Given the description of an element on the screen output the (x, y) to click on. 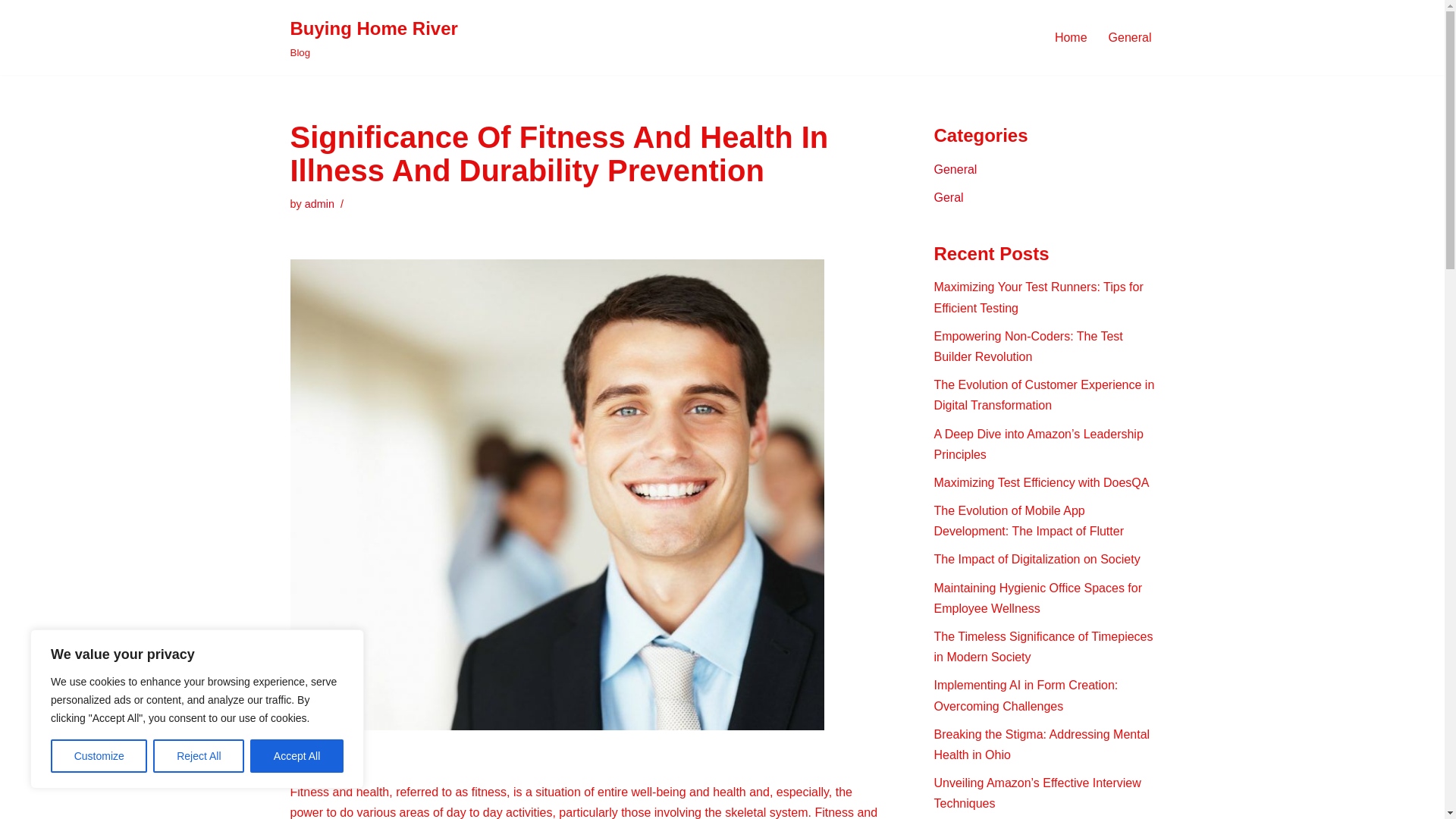
Maintaining Hygienic Office Spaces for Employee Wellness (1038, 598)
Maximizing Your Test Runners: Tips for Efficient Testing (1038, 296)
Empowering Non-Coders: The Test Builder Revolution (1028, 346)
General (1129, 37)
Maximizing Test Efficiency with DoesQA (1042, 481)
The Impact of Digitalization on Society (1037, 558)
Reject All (198, 756)
Geral (948, 196)
